Given the description of an element on the screen output the (x, y) to click on. 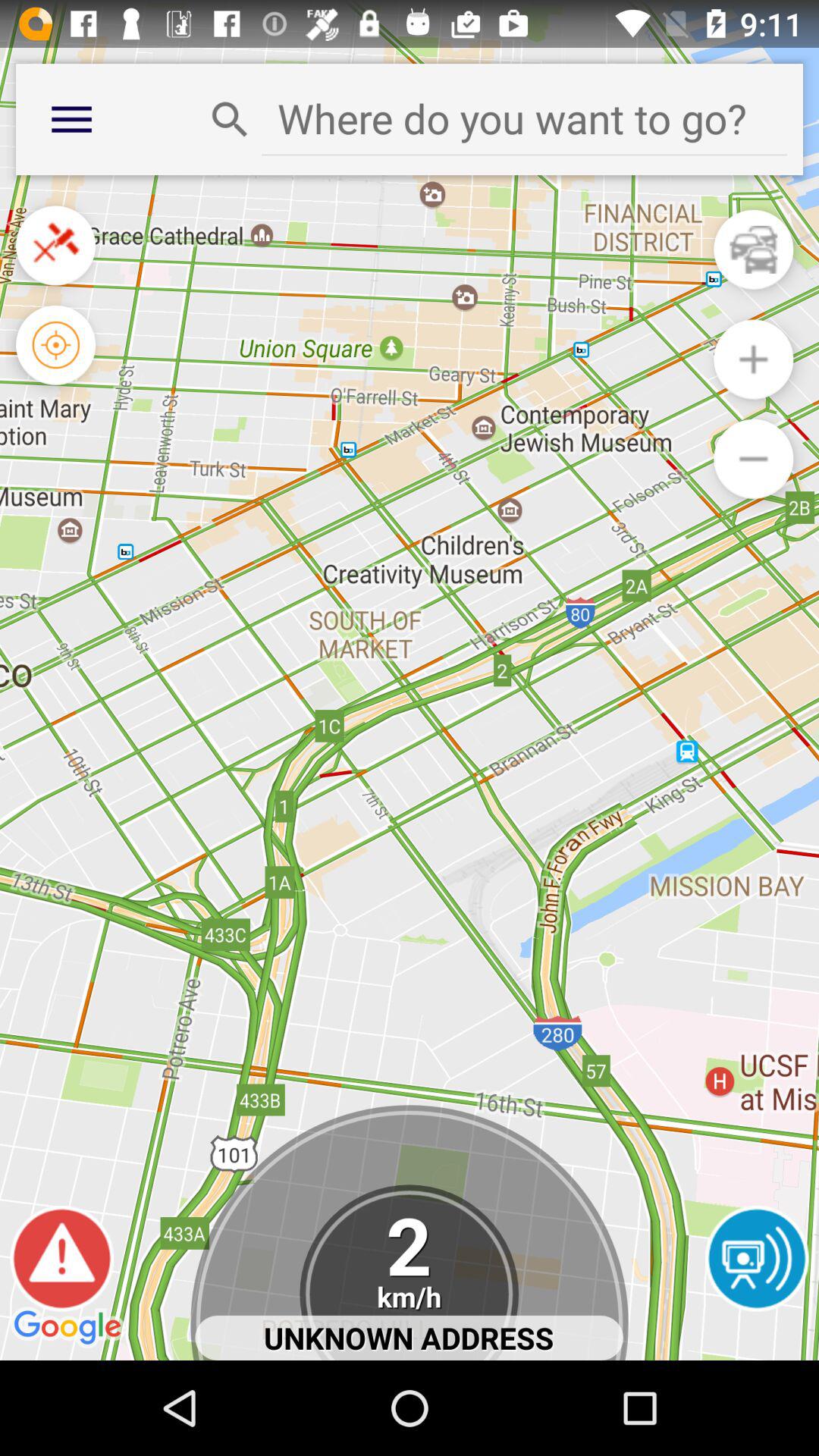
pinpoint user location (55, 345)
